Given the description of an element on the screen output the (x, y) to click on. 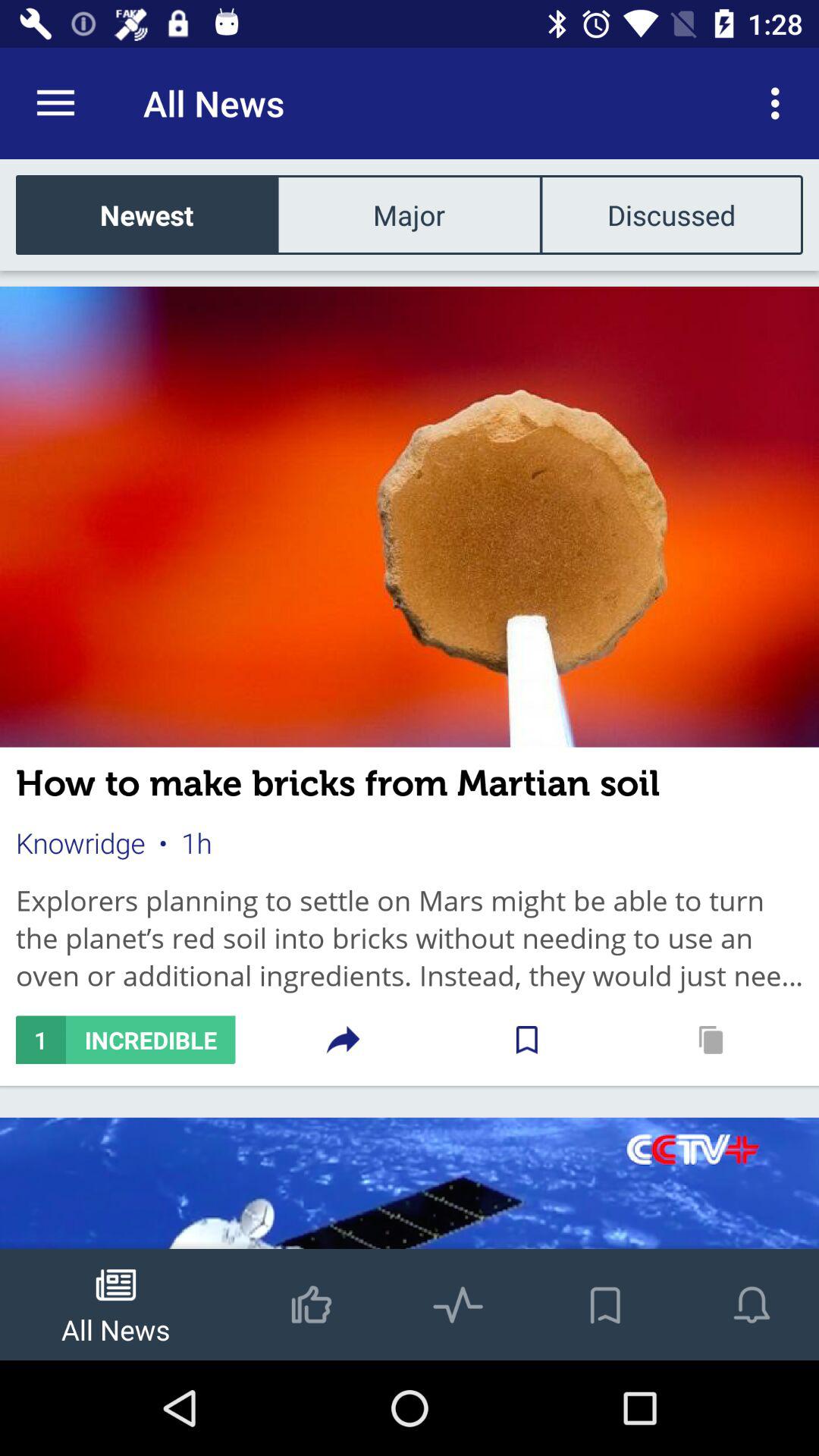
turn on the item next to the major item (146, 214)
